Given the description of an element on the screen output the (x, y) to click on. 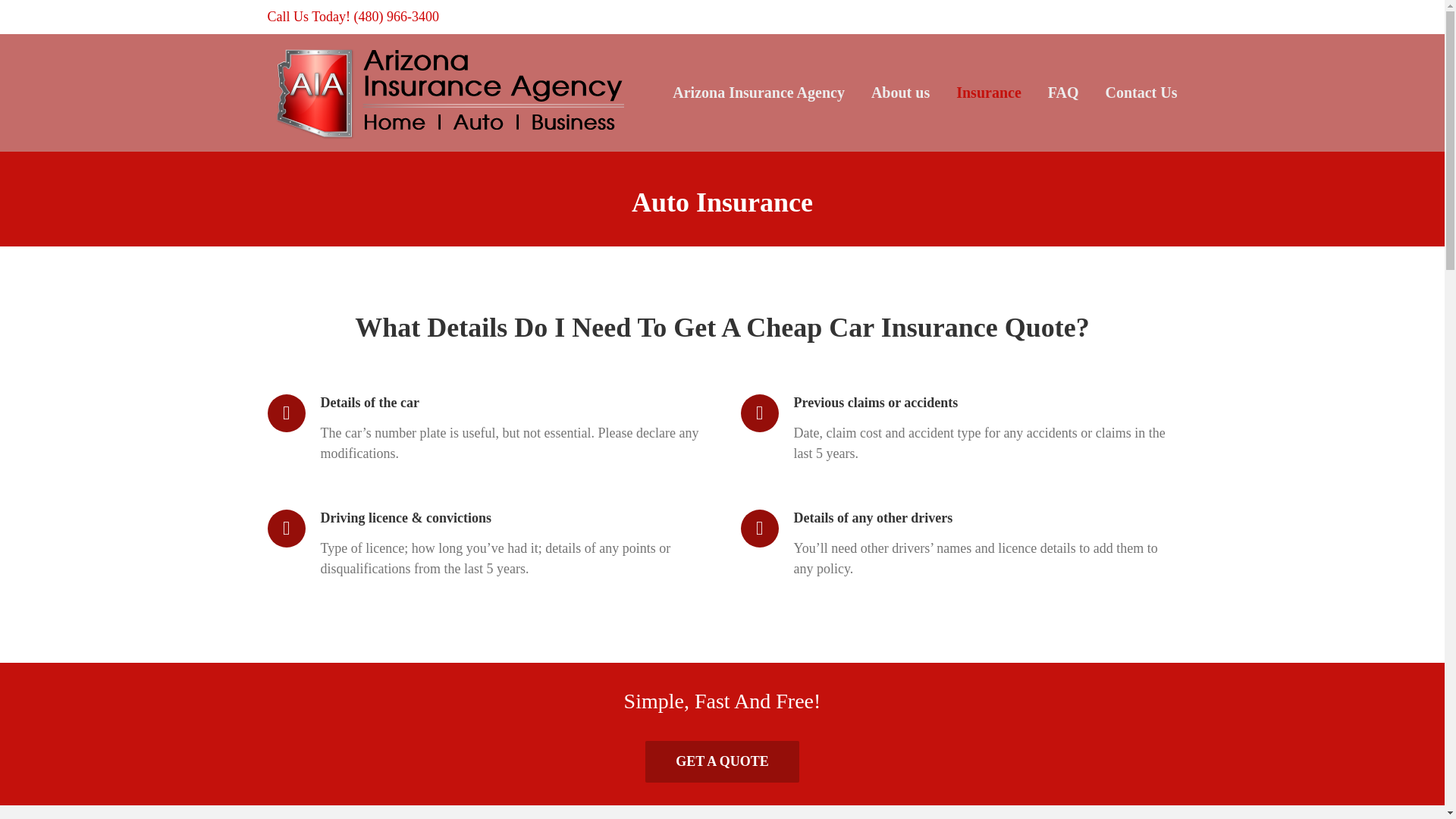
Arizona Insurance Agency (758, 92)
GET A QUOTE (722, 761)
